Given the description of an element on the screen output the (x, y) to click on. 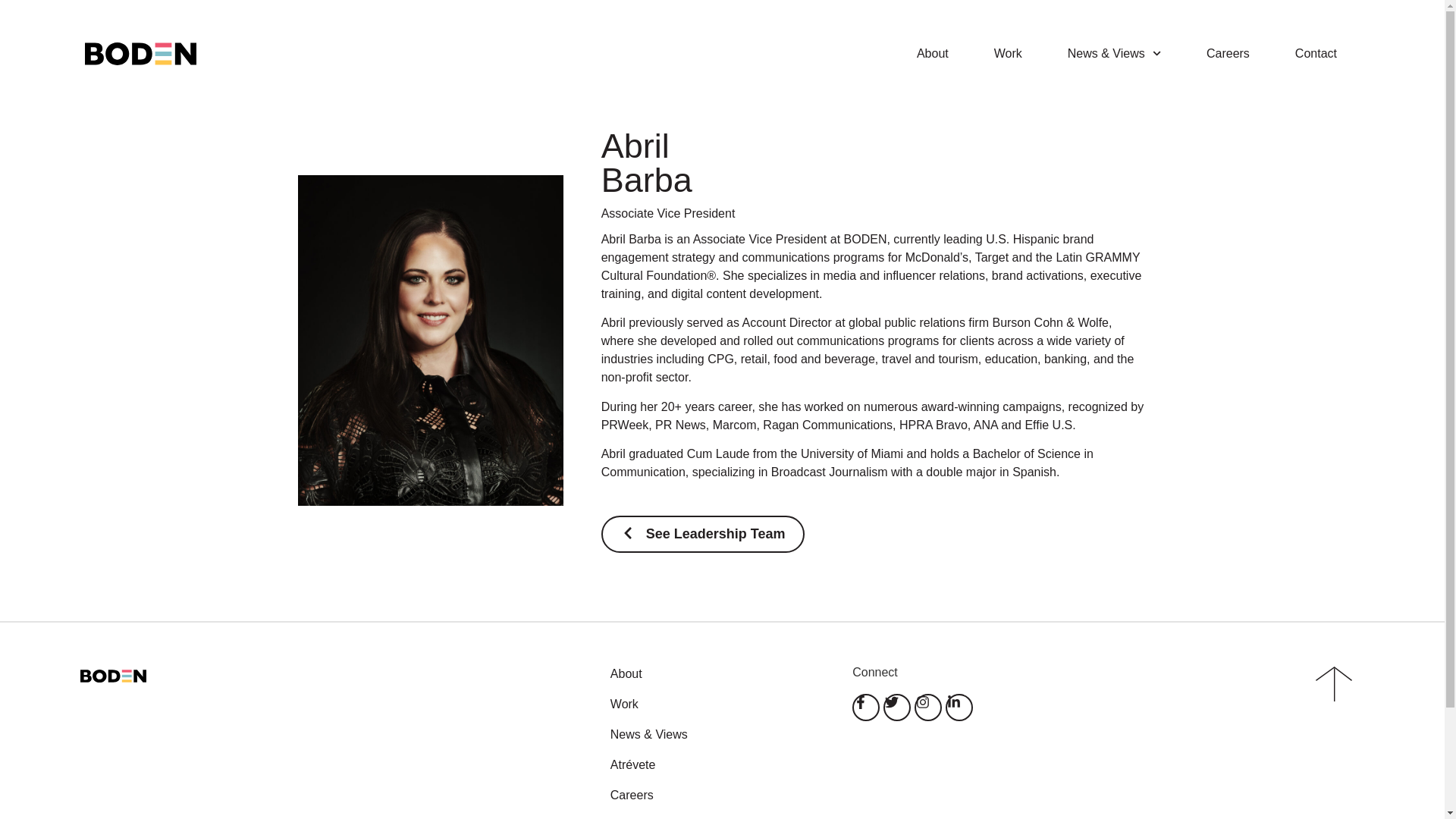
See Leadership Team (703, 533)
Work (1008, 53)
About (716, 673)
Contact (1315, 53)
About (932, 53)
Careers (1227, 53)
Careers (716, 795)
Work (716, 703)
